Given the description of an element on the screen output the (x, y) to click on. 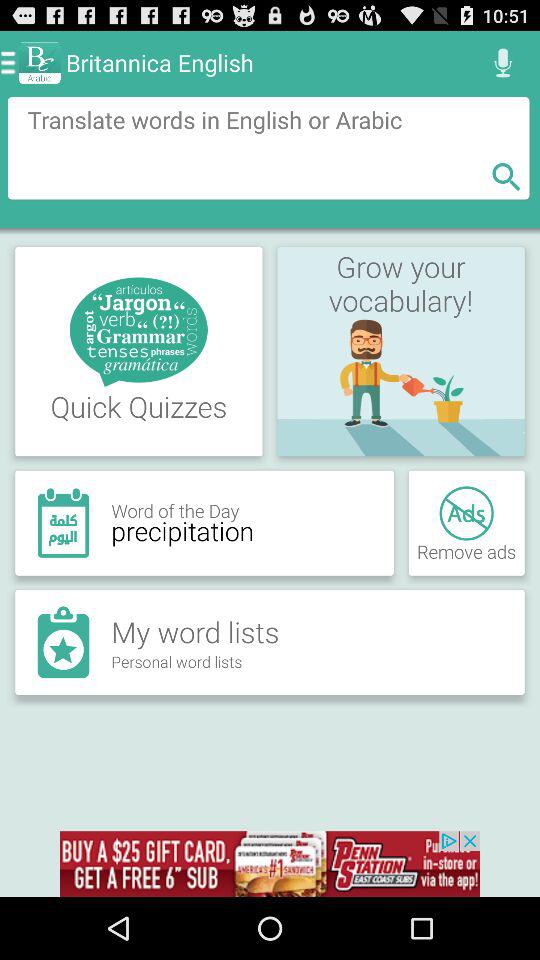
open penn station advertisement (270, 864)
